Given the description of an element on the screen output the (x, y) to click on. 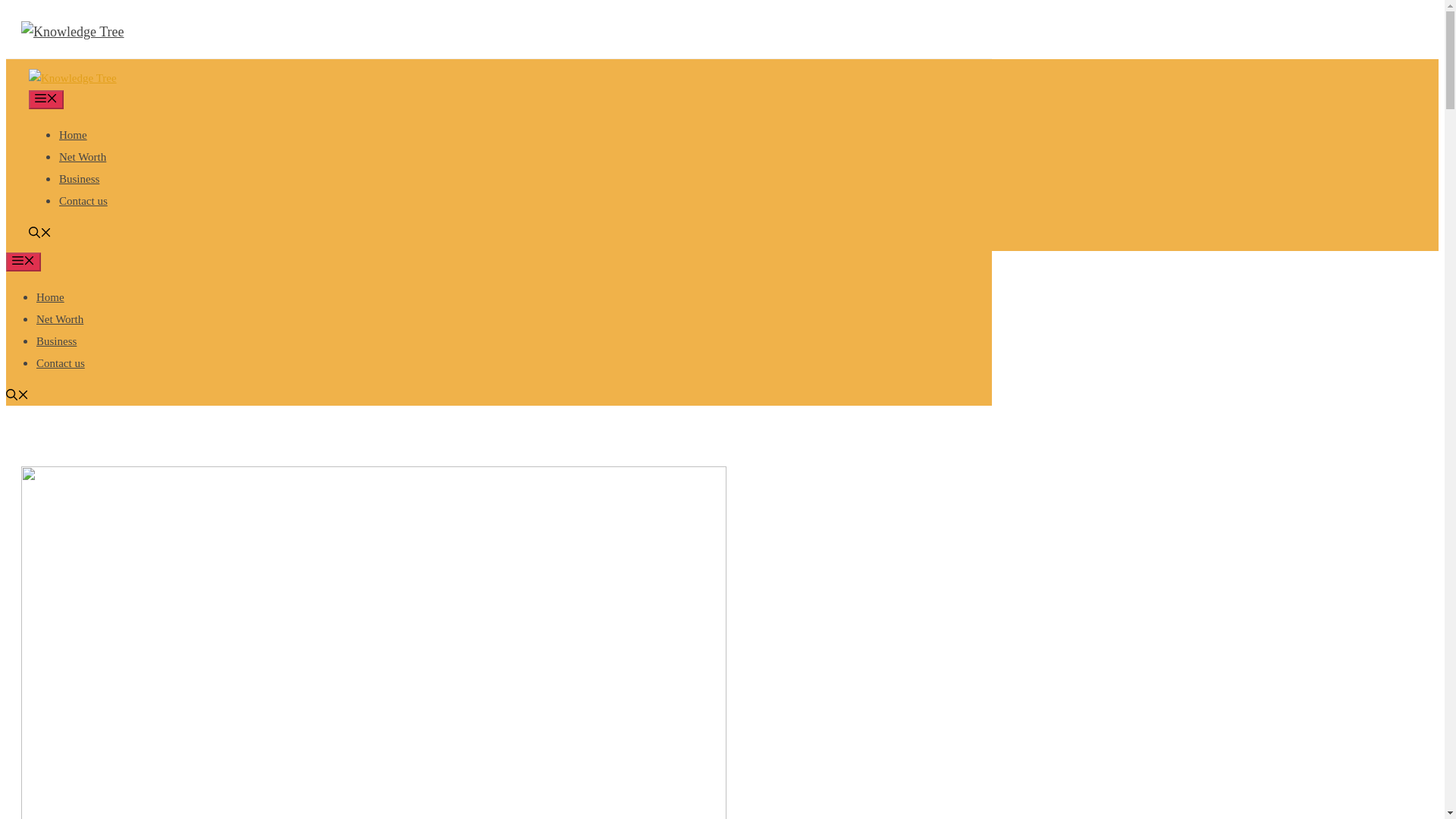
Menu (46, 99)
Menu (22, 261)
Business (79, 178)
Business (56, 340)
Net Worth (82, 156)
Home (50, 297)
Contact us (83, 200)
Contact us (60, 363)
Net Worth (59, 318)
